Given the description of an element on the screen output the (x, y) to click on. 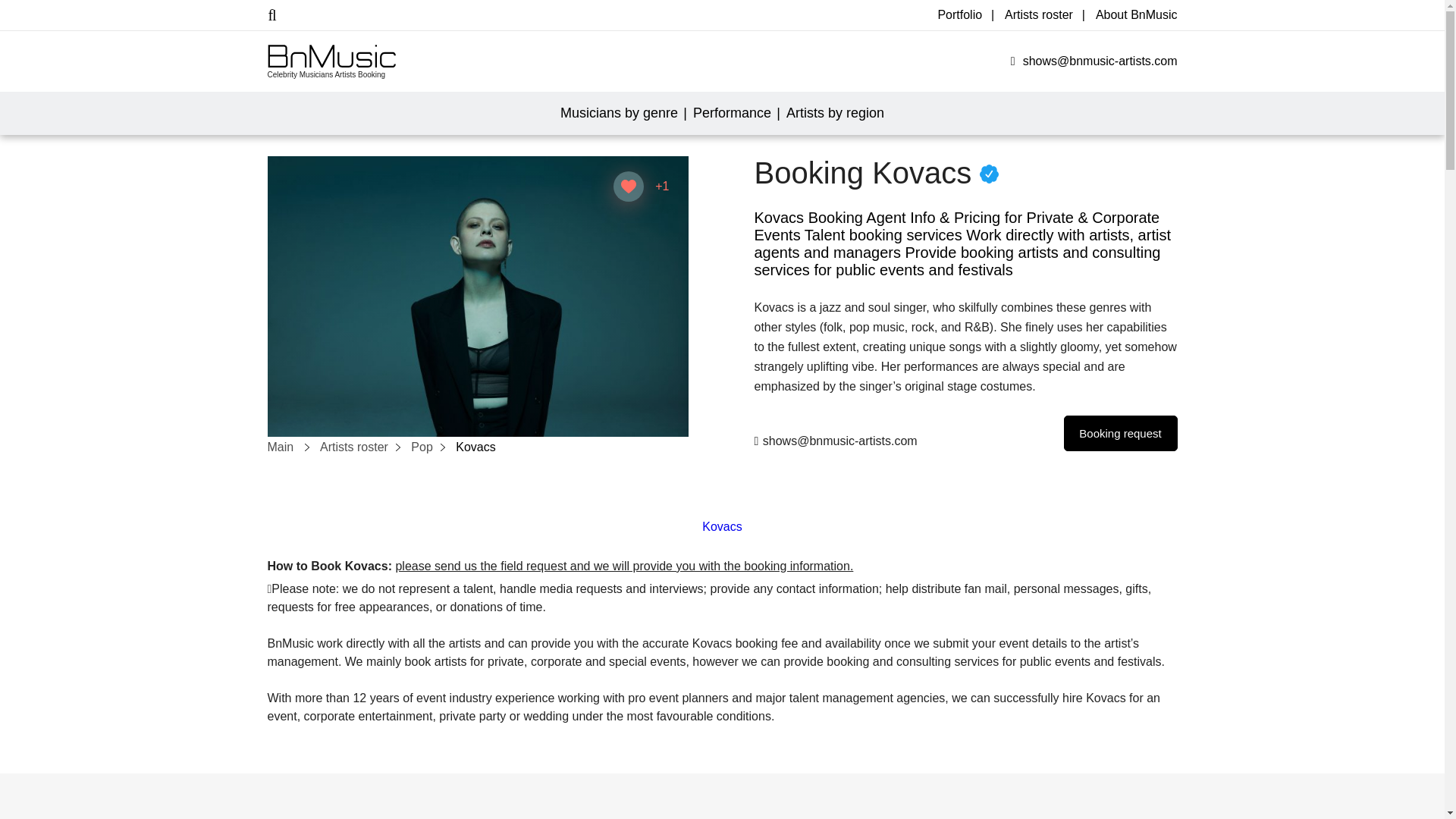
Artists roster (1038, 15)
Booking request (1119, 433)
BnMusic Artists Booking Agent (331, 55)
Portfolio (959, 15)
